Given the description of an element on the screen output the (x, y) to click on. 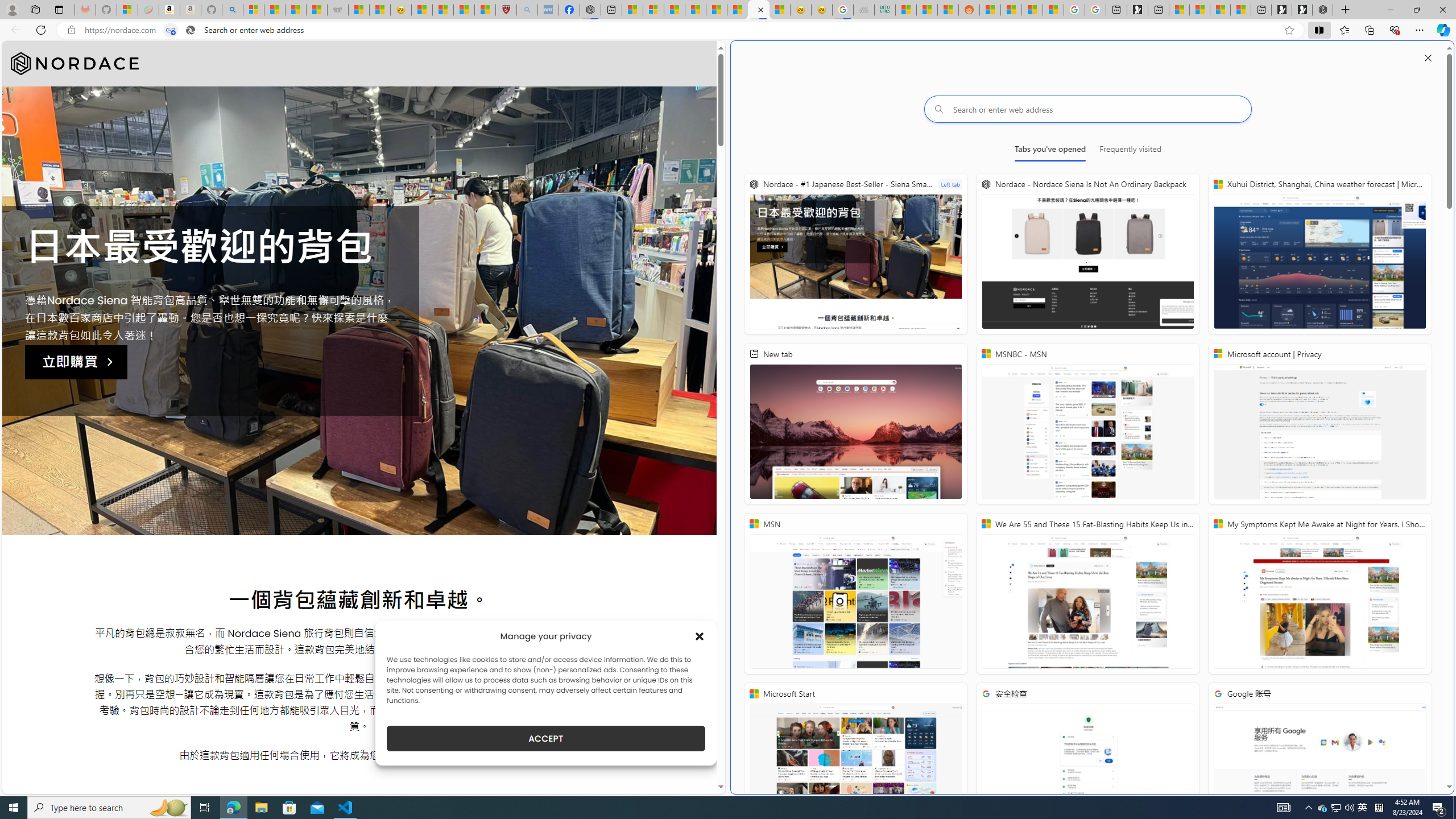
Settings and more (Alt+F) (1419, 29)
New split screen (759, 9)
Copilot (Ctrl+Shift+.) (1442, 29)
MSNBC - MSN (1087, 423)
Combat Siege (337, 9)
View site information (70, 29)
Nordace - Nordace Siena Is Not An Ordinary Backpack (1322, 9)
Navy Quest (863, 9)
Frequently visited (1130, 151)
Microsoft-Report a Concern to Bing (127, 9)
MSN (948, 9)
Search icon (190, 29)
